Given the description of an element on the screen output the (x, y) to click on. 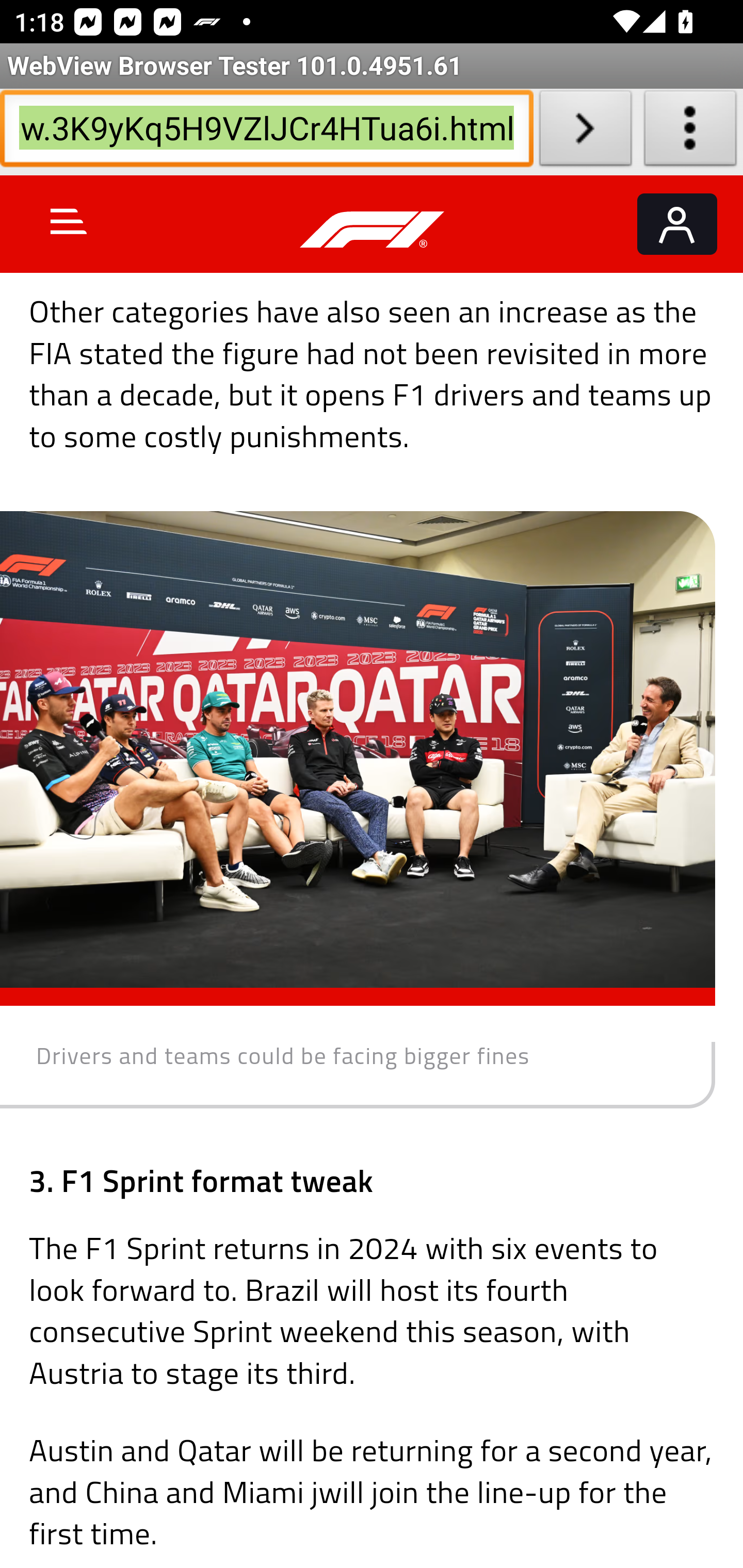
Load URL (585, 132)
About WebView (690, 132)
